Given the description of an element on the screen output the (x, y) to click on. 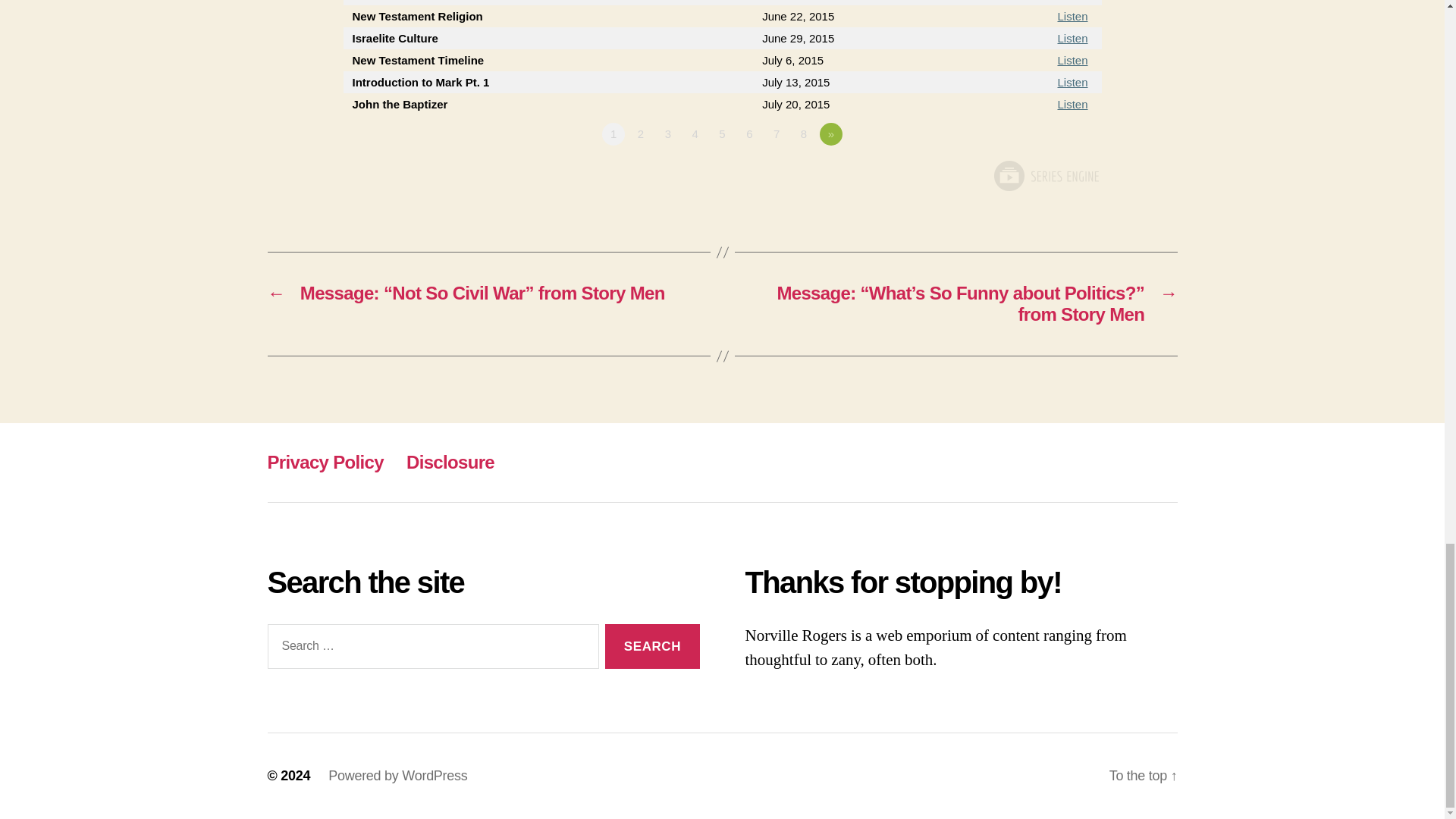
Search (651, 646)
Search (651, 646)
